Given the description of an element on the screen output the (x, y) to click on. 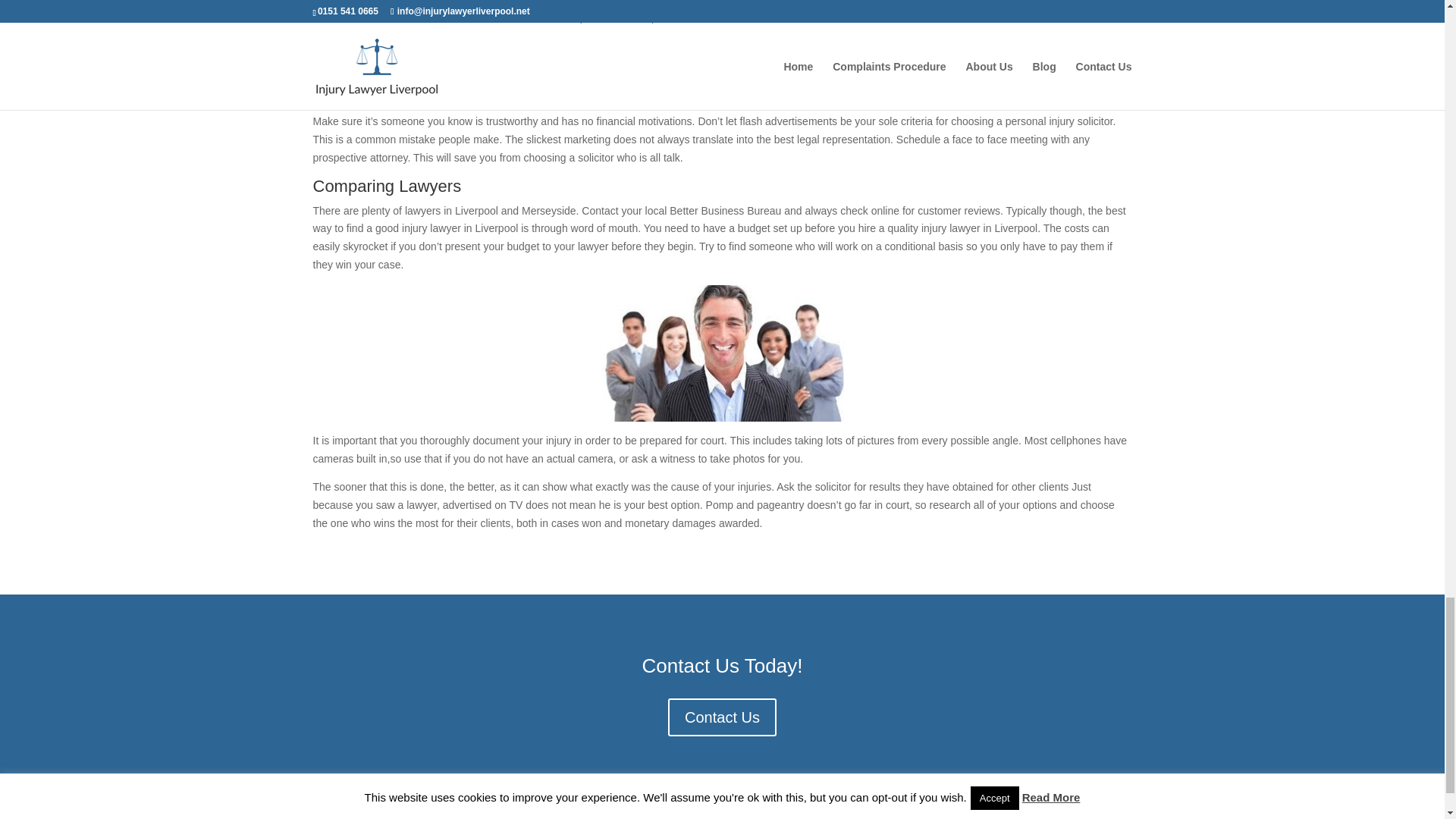
Privacy (803, 815)
Home (327, 815)
About Us (518, 815)
Complaints Procedure (417, 815)
Terms of Service (722, 815)
Contact Us (722, 717)
Blog (573, 815)
Sitemap (863, 815)
Contact Us (633, 815)
